Given the description of an element on the screen output the (x, y) to click on. 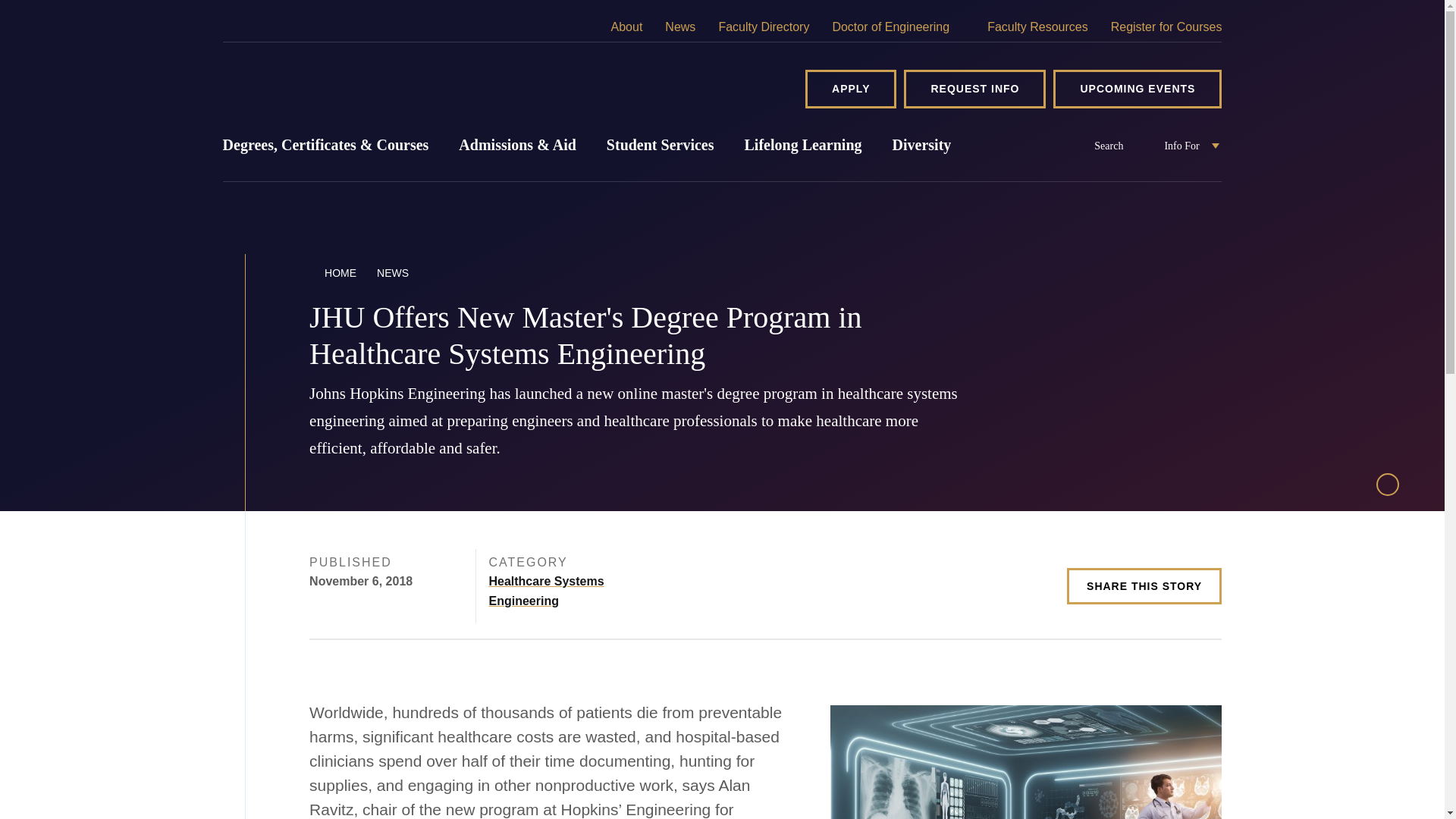
Doctor of Engineering (898, 26)
Student Services (660, 154)
News (679, 26)
Register for Courses (1166, 26)
About (626, 26)
REQUEST INFO (974, 88)
Faculty Resources (1037, 26)
Faculty Directory (763, 26)
Johns Hopkins Engineering for Professionals (394, 87)
APPLY (850, 88)
